Given the description of an element on the screen output the (x, y) to click on. 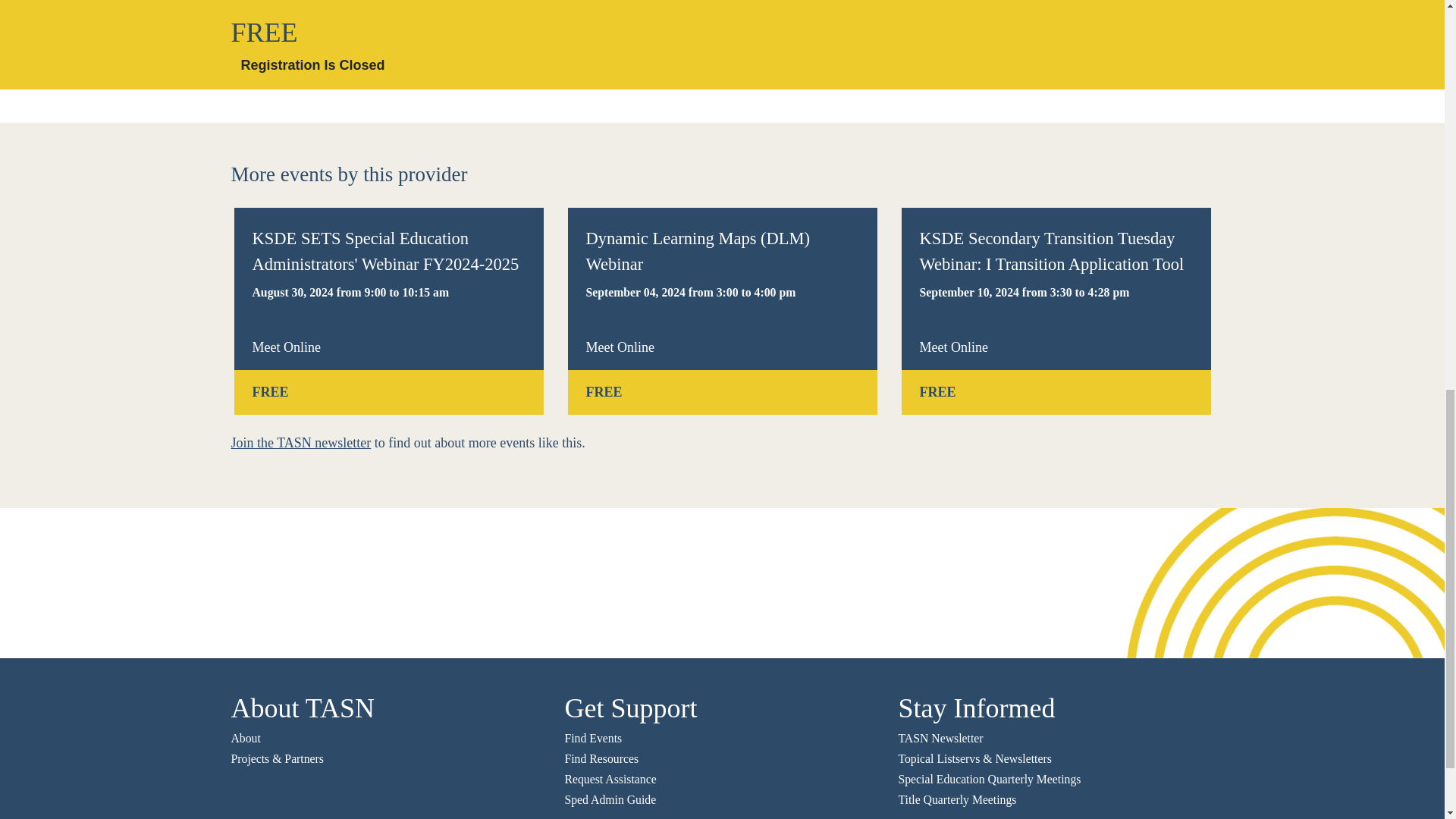
Join the TASN newsletter (300, 442)
About (245, 738)
Find Events (592, 738)
TASN Newsletter (940, 738)
Find Resources (601, 758)
Title Quarterly Meetings (957, 799)
Request Assistance (610, 779)
Sped Admin Guide (610, 799)
